Given the description of an element on the screen output the (x, y) to click on. 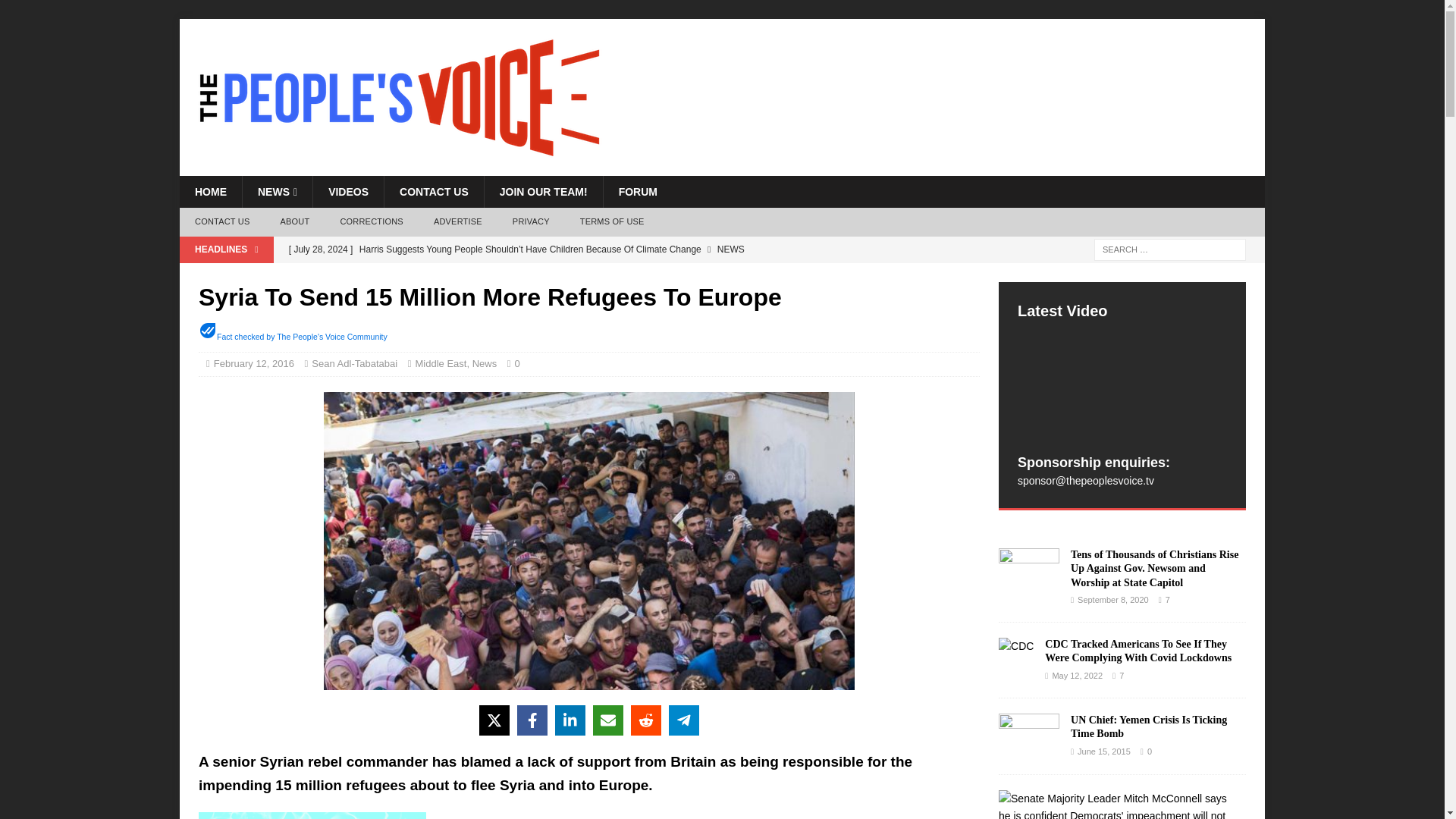
VIDEOS (348, 192)
ABOUT (294, 222)
CONTACT US (221, 222)
February 12, 2016 (254, 363)
CONTACT US (433, 192)
Middle East (440, 363)
TERMS OF USE (611, 222)
Sean Adl-Tabatabai (354, 363)
0 (521, 363)
ADVERTISE (458, 222)
PRIVACY (530, 222)
CORRECTIONS (370, 222)
News (484, 363)
FORUM (637, 192)
